Given the description of an element on the screen output the (x, y) to click on. 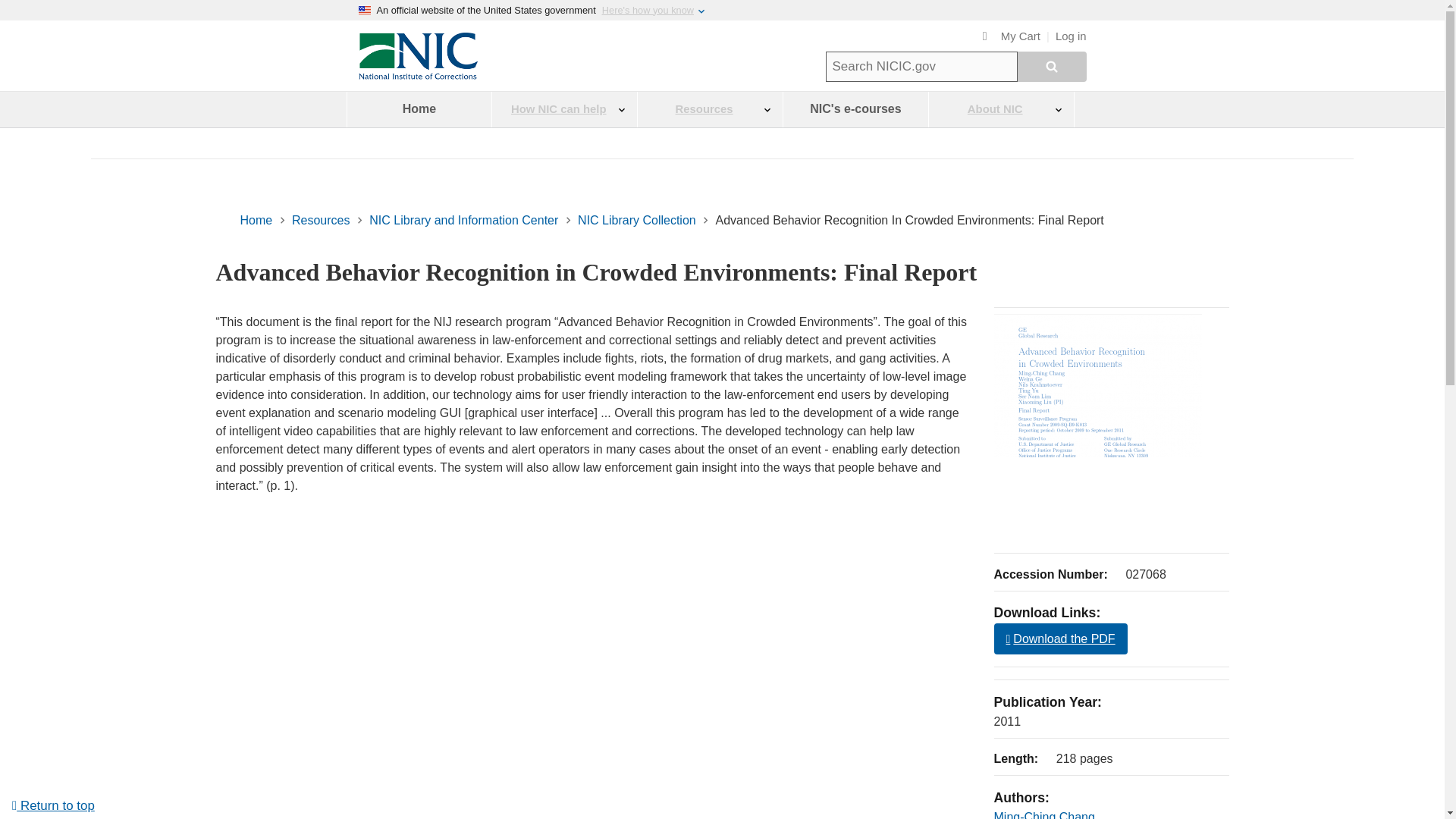
Ming-Ching Chang (1043, 814)
Here's how you know (648, 9)
My Cart (1011, 36)
About NIC (1001, 108)
NIC Library and Information Center (463, 219)
Download the PDF (1059, 639)
Resources (320, 219)
Log in (1070, 36)
Return to top (52, 805)
Home (256, 219)
